Given the description of an element on the screen output the (x, y) to click on. 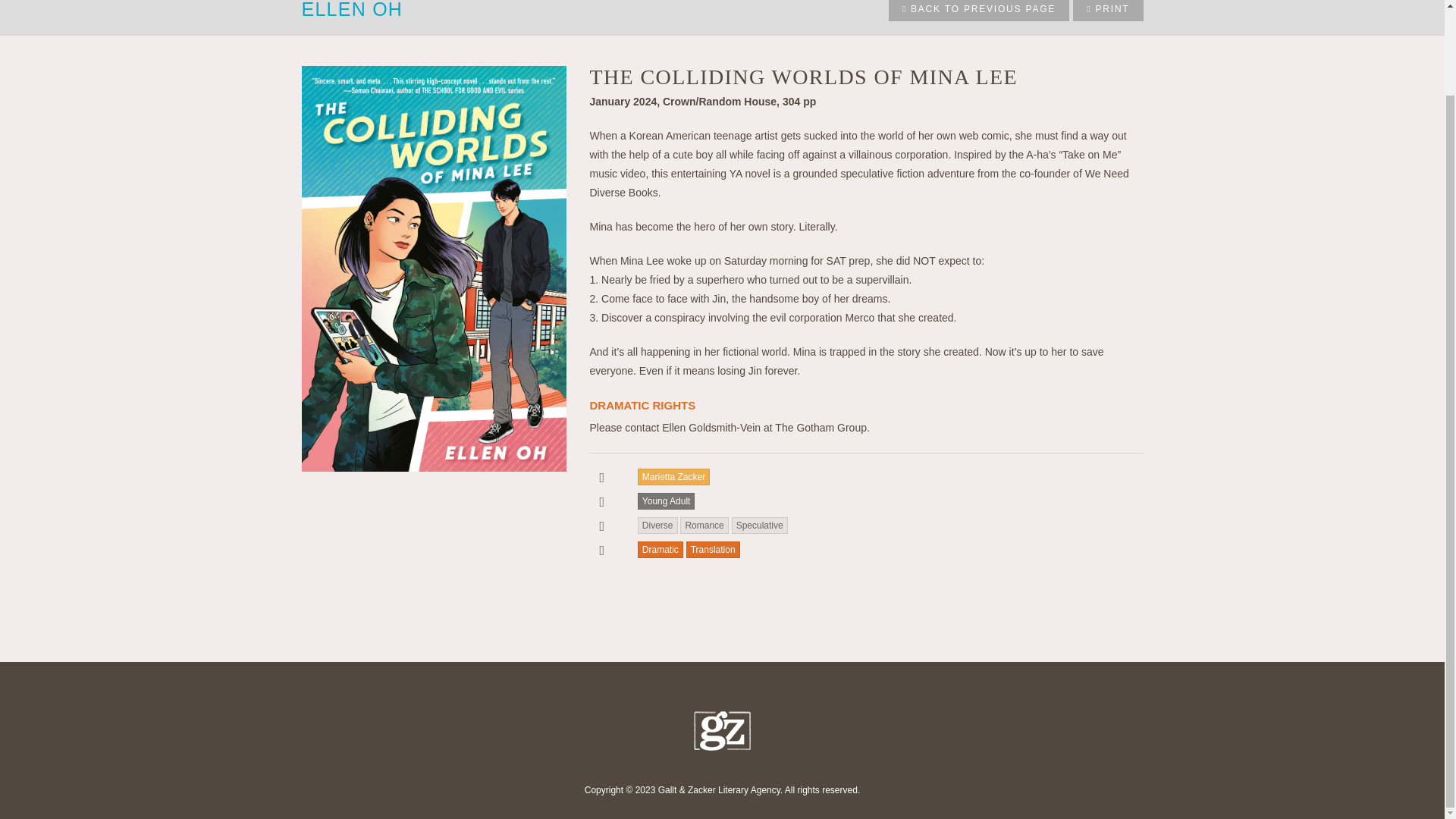
Romance (703, 524)
Diverse (657, 524)
Romance (703, 524)
Dramatic (659, 549)
Marietta Zacker (673, 476)
Ellen Oh THE COLLIDING WORLDS OF MINA LEE (434, 564)
Translation (712, 549)
Marietta Zacker (673, 476)
Young Adult (666, 501)
Speculative (759, 524)
